Given the description of an element on the screen output the (x, y) to click on. 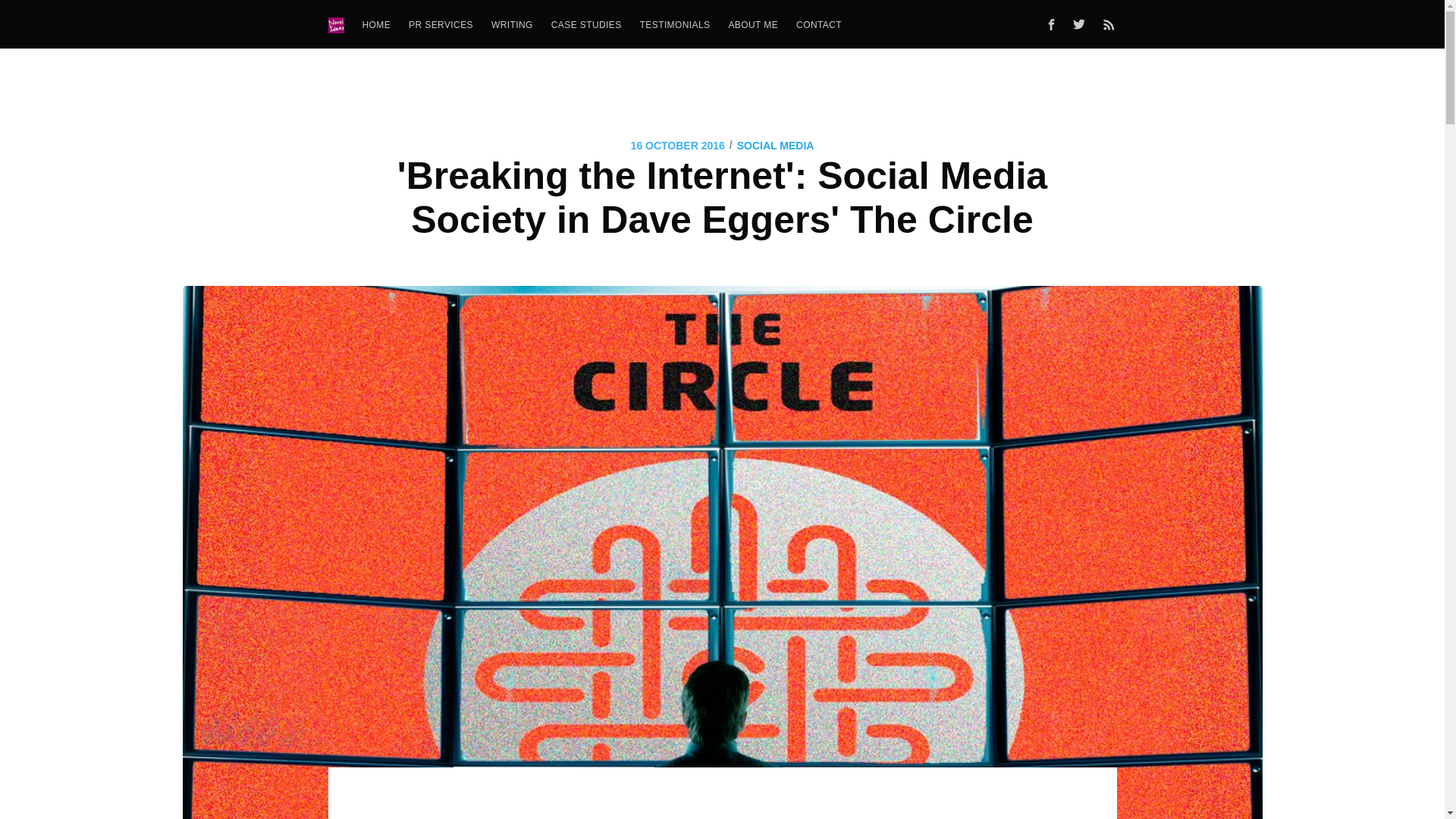
PR SERVICES (439, 25)
CASE STUDIES (585, 25)
CONTACT (818, 25)
WRITING (511, 25)
ABOUT ME (753, 25)
HOME (376, 25)
TESTIMONIALS (674, 25)
Twitter (1082, 23)
Facebook (1050, 23)
SOCIAL MEDIA (774, 145)
